Given the description of an element on the screen output the (x, y) to click on. 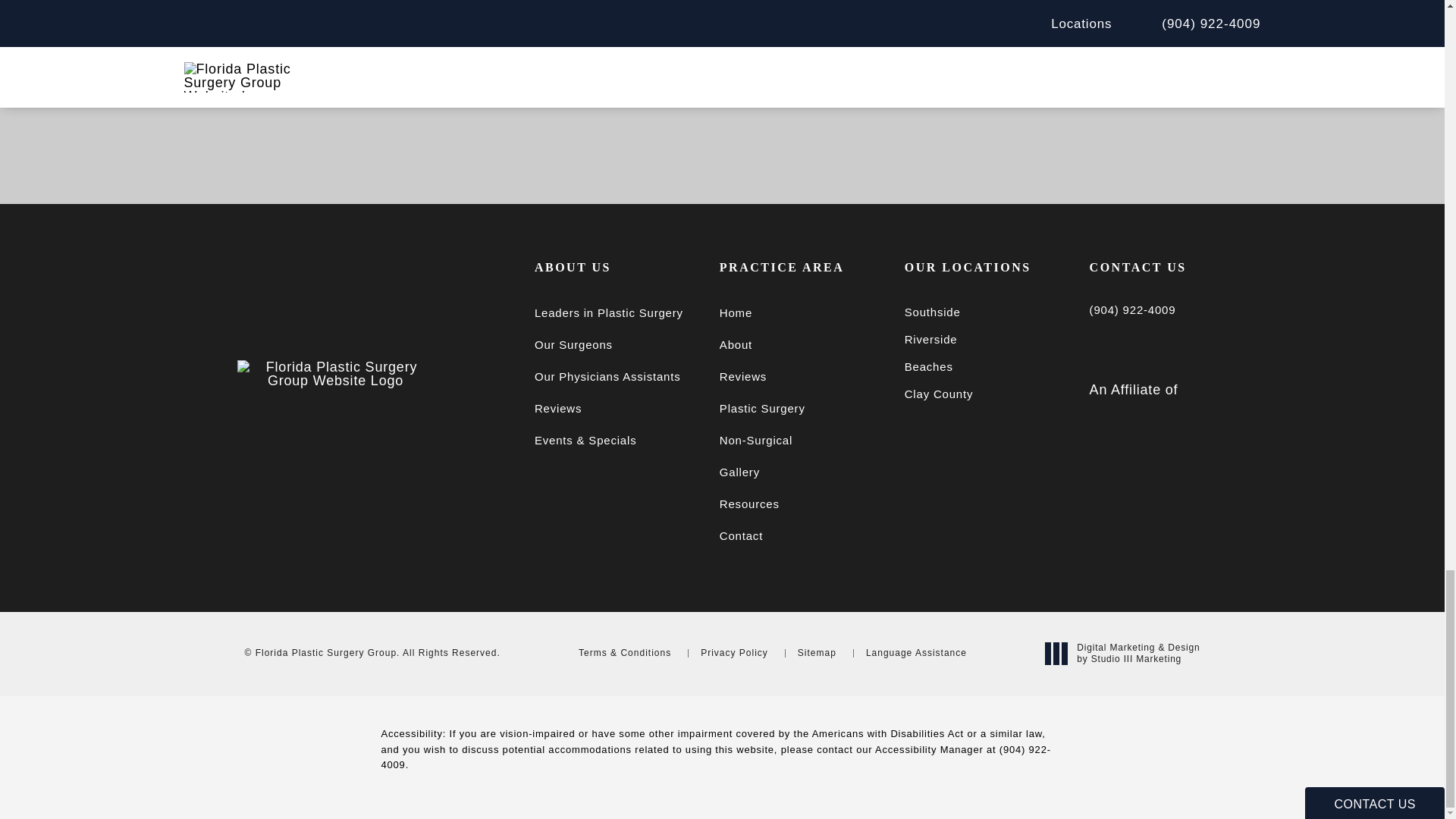
Florida Plastic Surgery Group on Facebook (1147, 347)
Florida Plastic Surgery Group on Youtube (1188, 347)
Florida Plastic Surgery Group on Instagram (1108, 347)
